Given the description of an element on the screen output the (x, y) to click on. 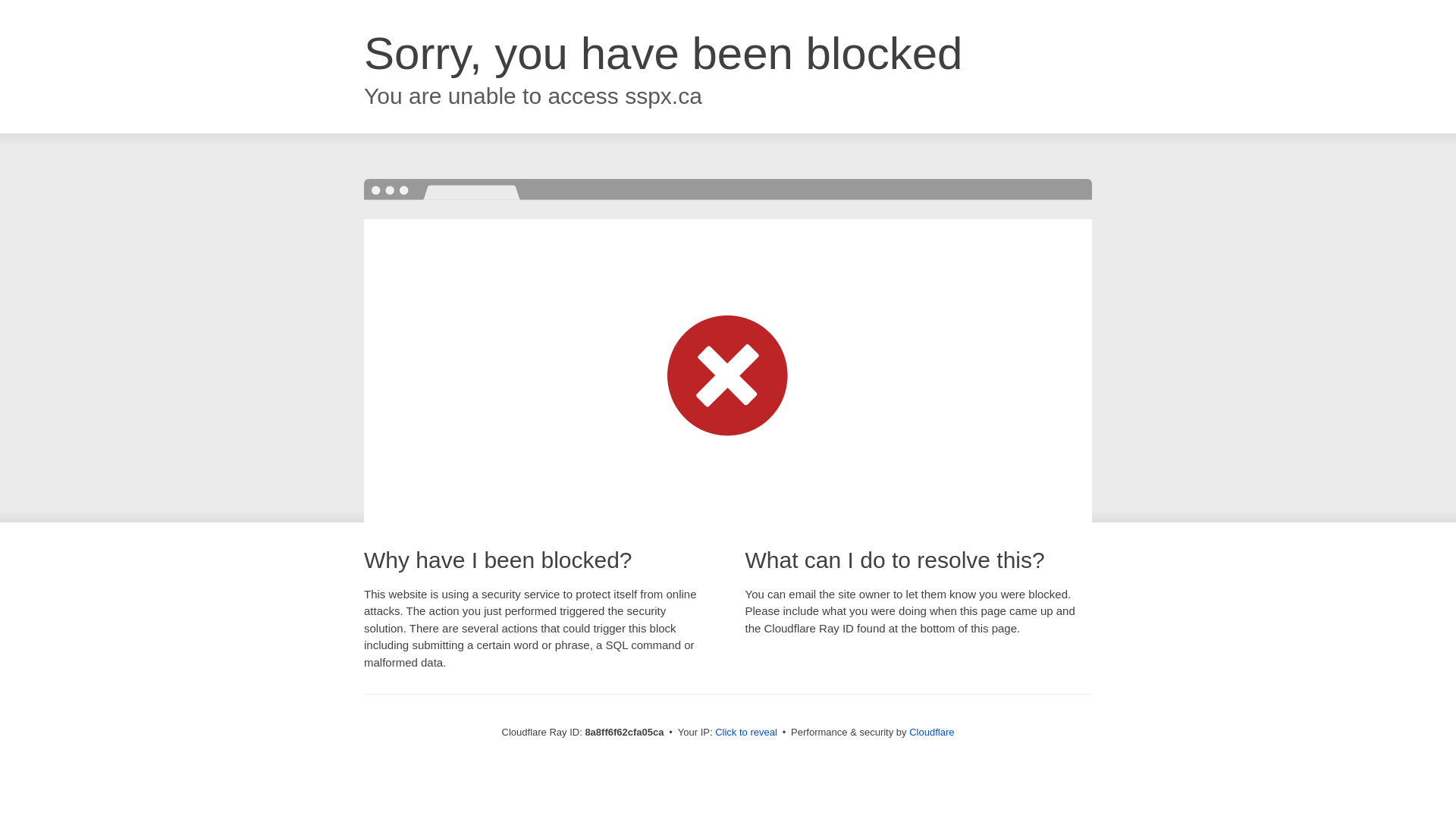
Click to reveal (745, 732)
Cloudflare (930, 731)
